Given the description of an element on the screen output the (x, y) to click on. 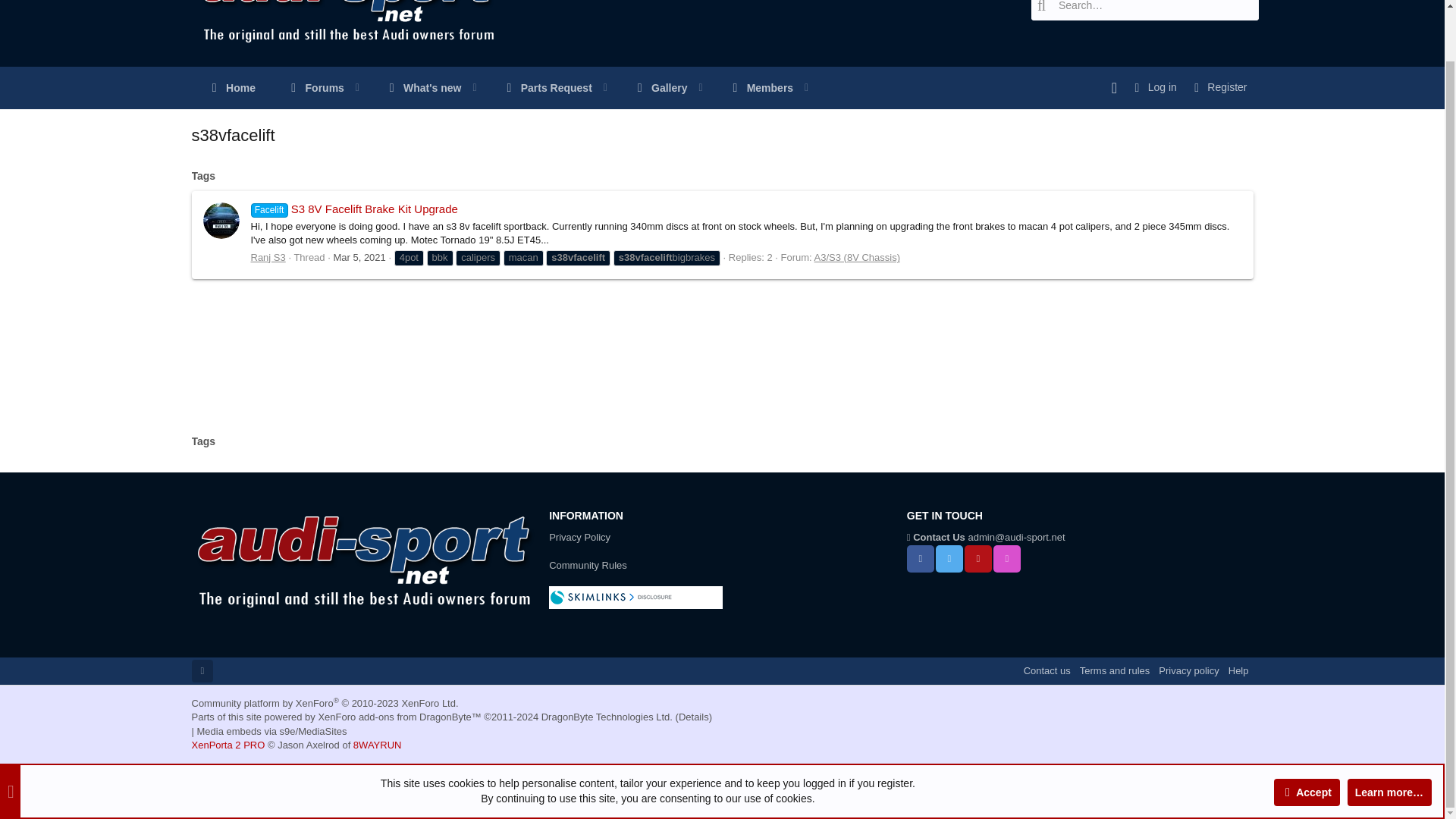
Follow us! (949, 558)
Gallery (651, 87)
Toggle width (201, 671)
Follow us! (920, 558)
Home (229, 87)
Forums (308, 87)
Parts Request (503, 87)
Follow us! (540, 87)
